Given the description of an element on the screen output the (x, y) to click on. 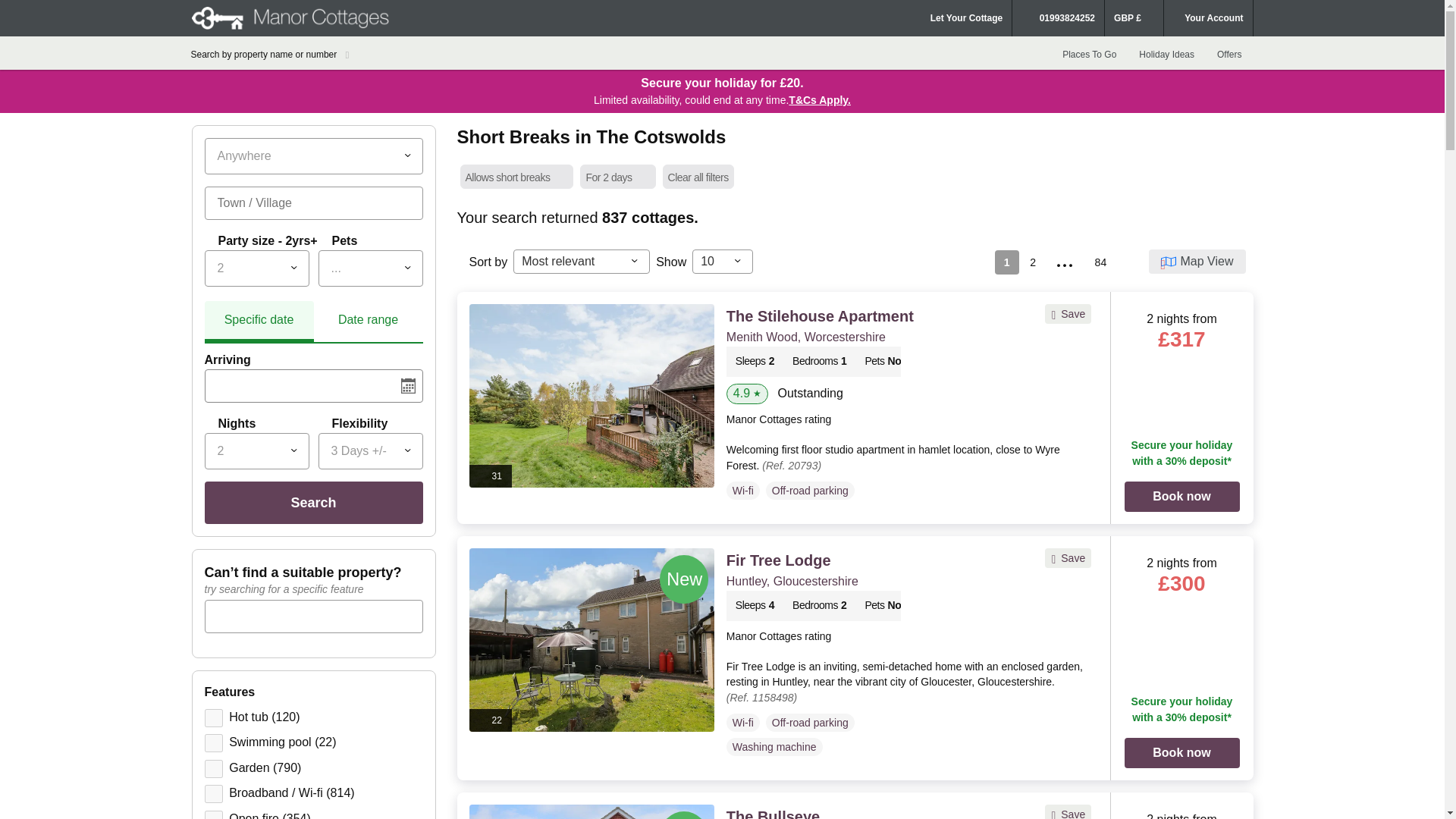
Your Account (1207, 18)
1 (213, 793)
1 (213, 742)
Places To Go (1089, 54)
Holiday Ideas (1165, 54)
Let Your Cottage (966, 18)
Save (1067, 813)
1 (213, 814)
1 (213, 769)
1 (213, 718)
